Given the description of an element on the screen output the (x, y) to click on. 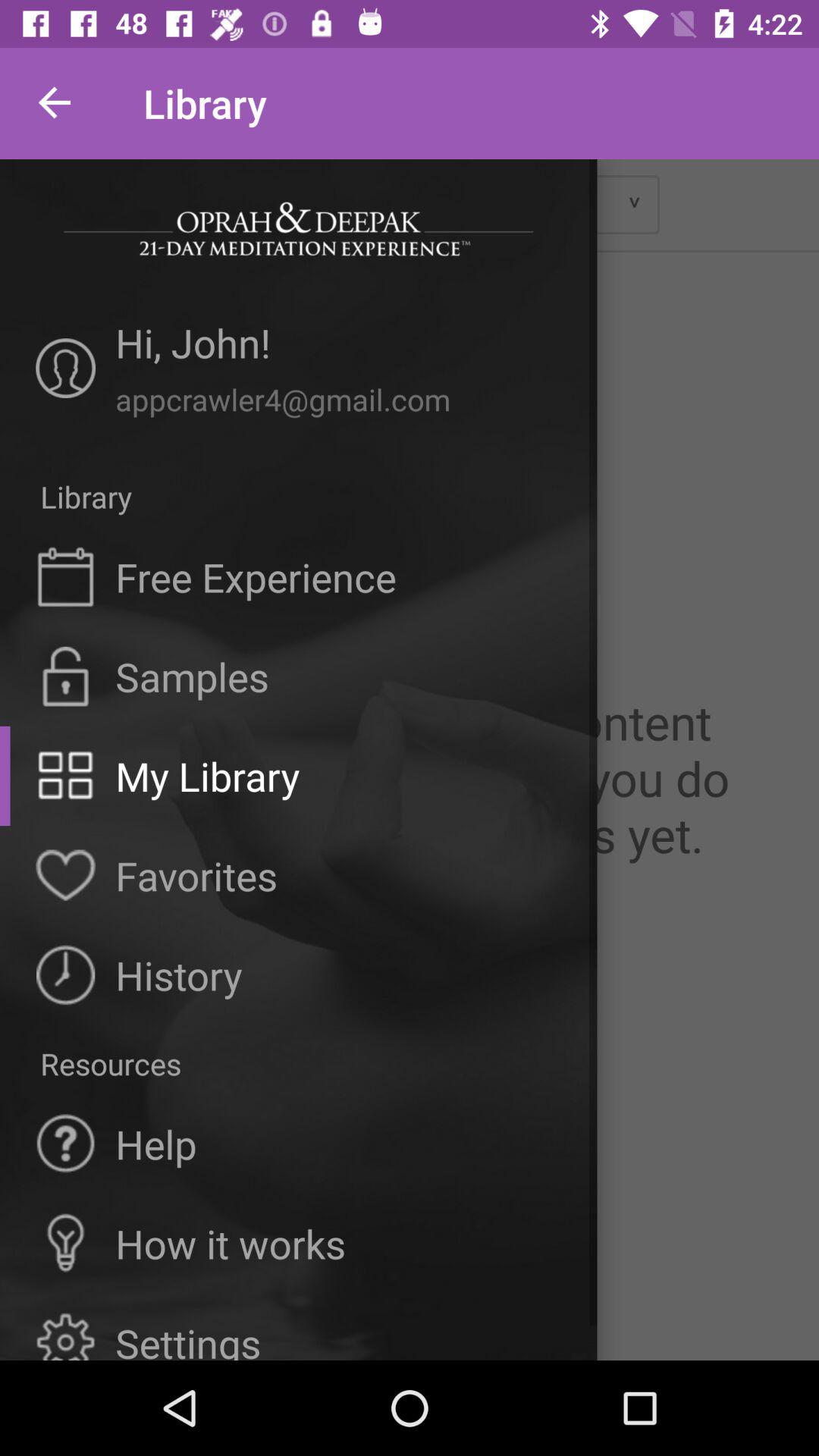
launch item above the my library icon (192, 676)
